Given the description of an element on the screen output the (x, y) to click on. 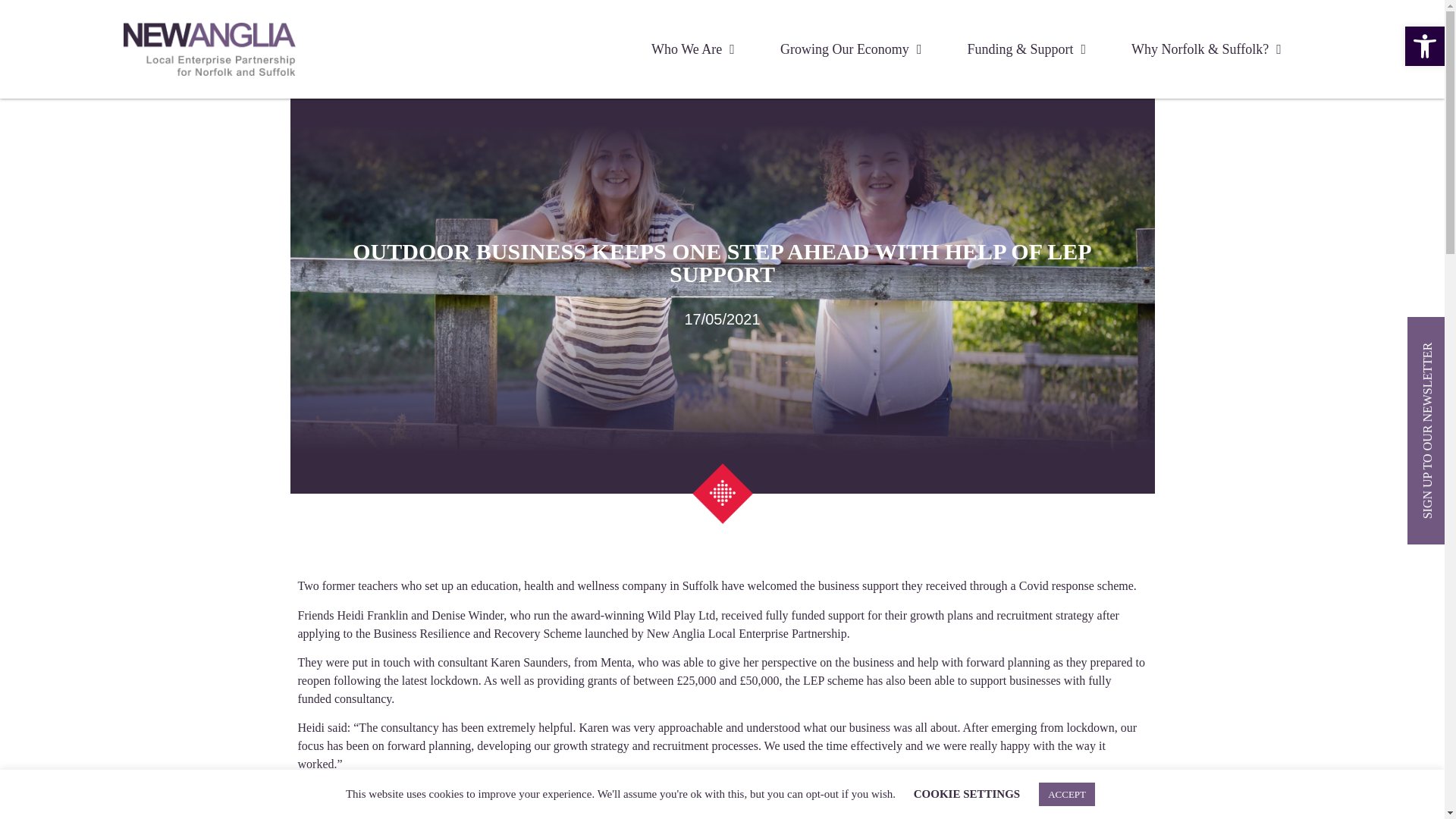
Who We Are (692, 48)
Accessibility Tools (1424, 46)
Growing Our Economy (851, 48)
